Given the description of an element on the screen output the (x, y) to click on. 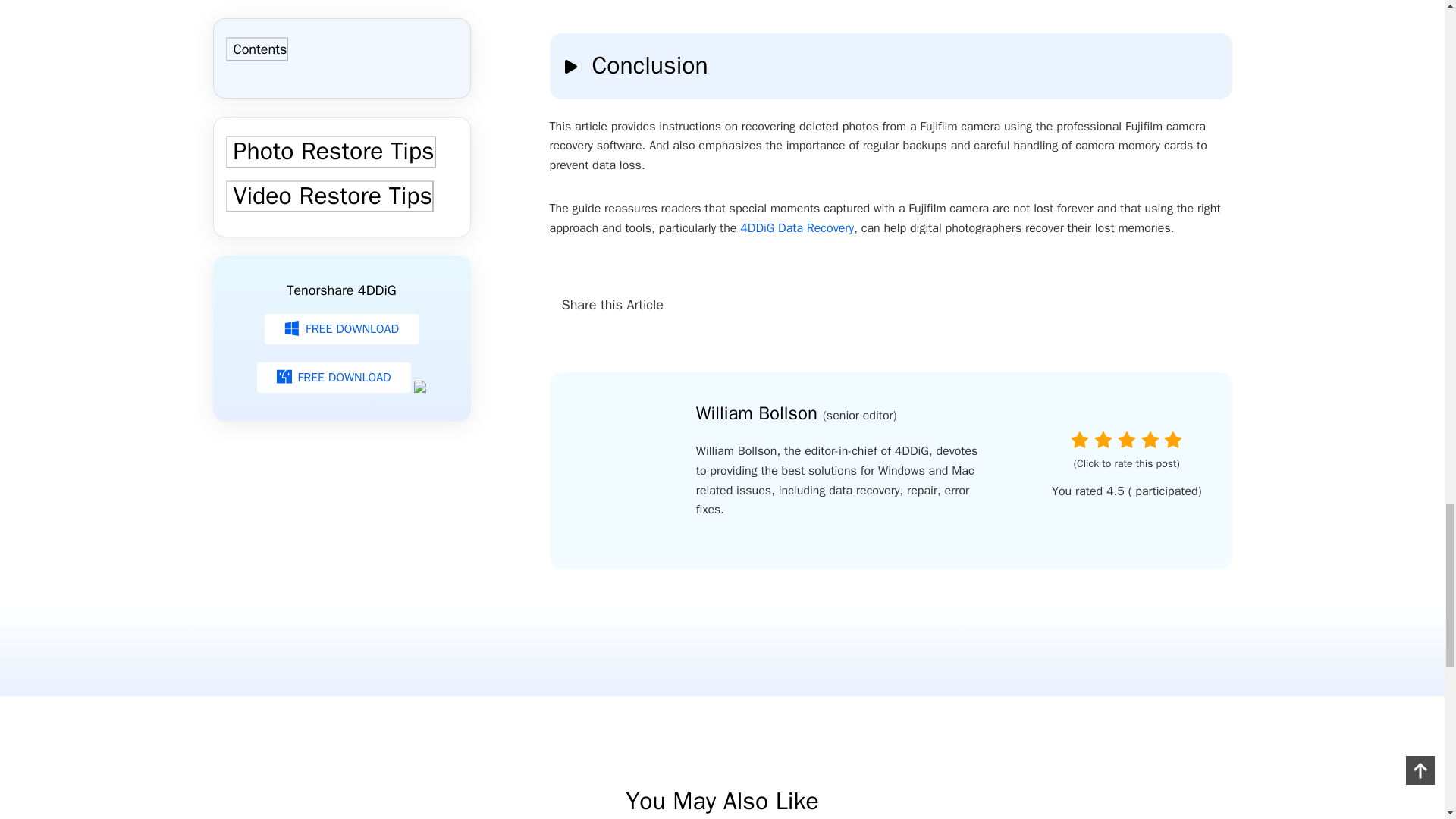
2 (1103, 439)
3 (1126, 439)
4 (1150, 439)
1 (1079, 439)
5 (1172, 439)
